Given the description of an element on the screen output the (x, y) to click on. 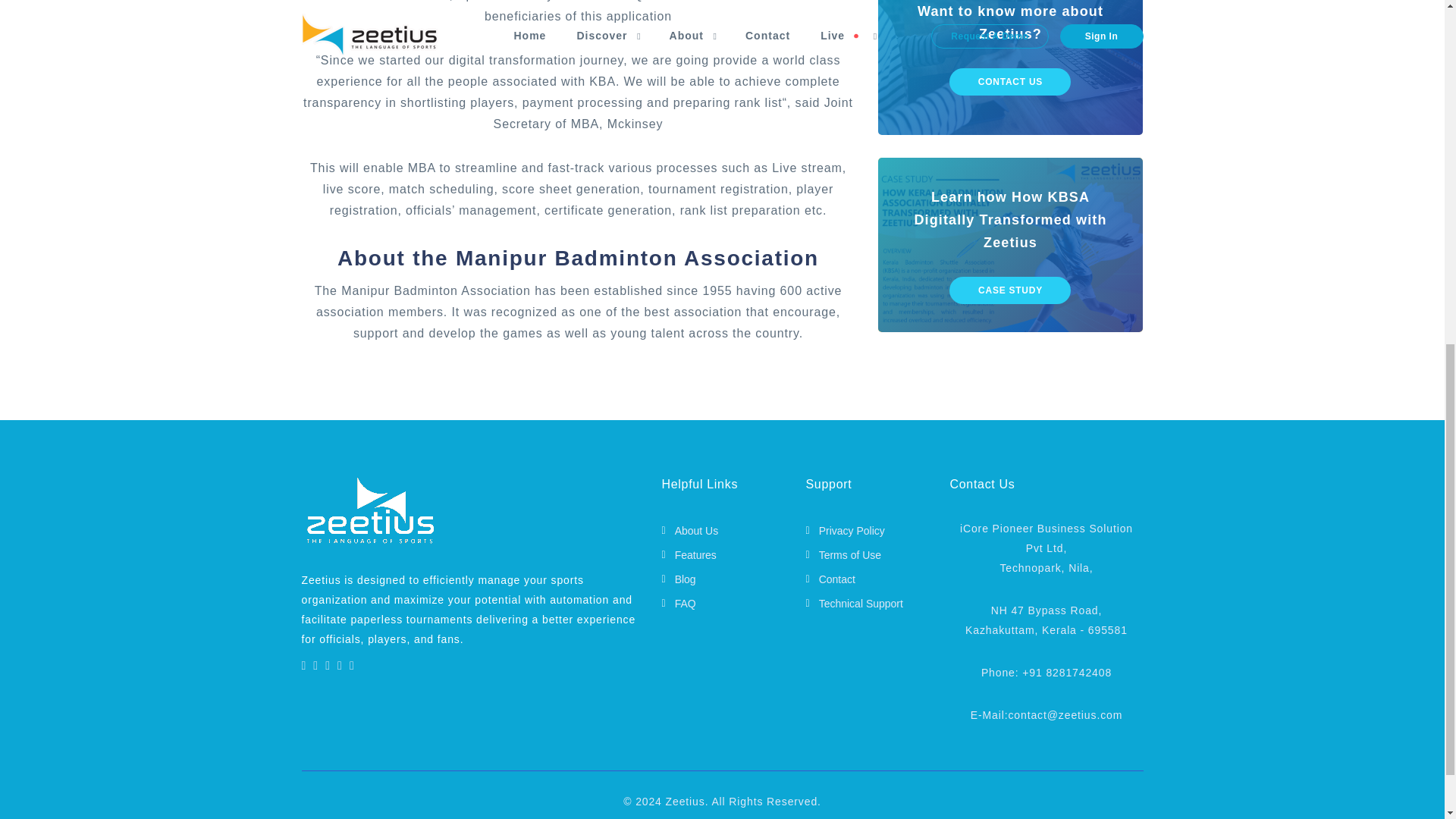
CONTACT US (1009, 81)
CASE STUDY (1009, 289)
